Given the description of an element on the screen output the (x, y) to click on. 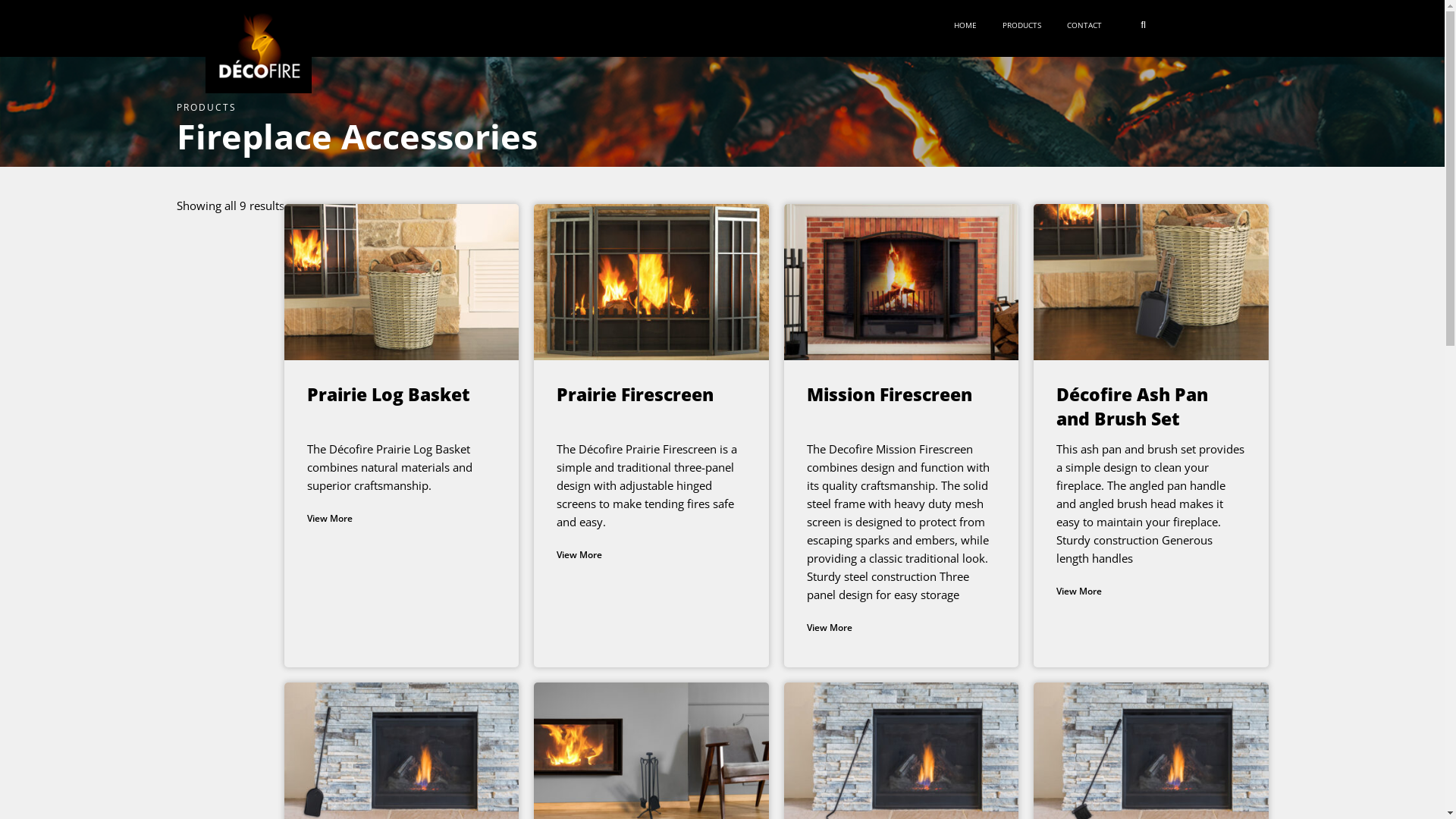
View More Element type: text (579, 554)
PRODUCTS Element type: text (1025, 25)
View More Element type: text (328, 517)
View More Element type: text (829, 627)
Prairie Firescreen Element type: text (634, 394)
CONTACT Element type: text (1087, 25)
HOME Element type: text (968, 25)
Mission Firescreen Element type: text (889, 394)
View More Element type: text (1078, 590)
Prairie Log Basket Element type: text (387, 394)
Search Element type: text (1247, 27)
